Given the description of an element on the screen output the (x, y) to click on. 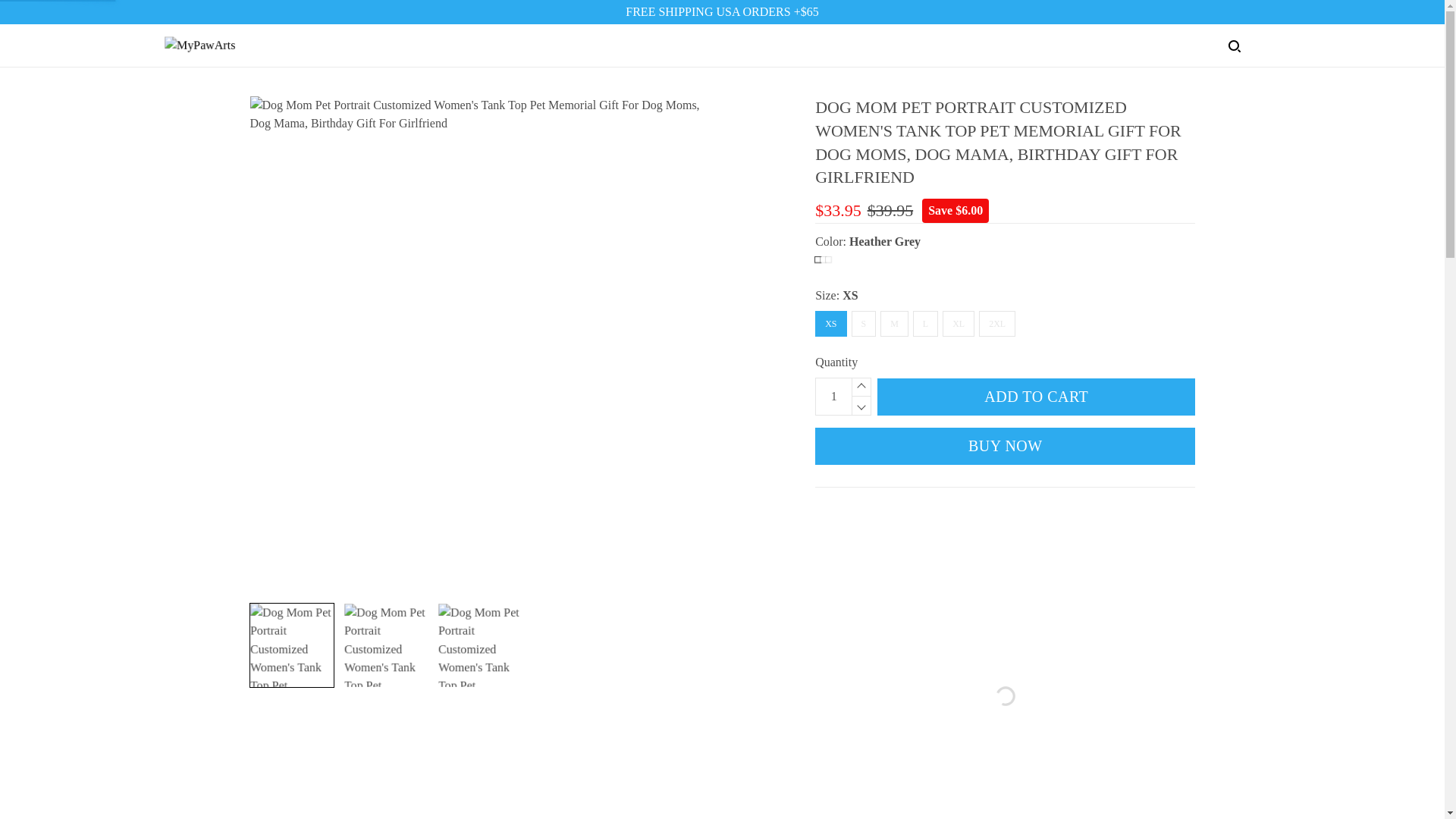
1 (833, 396)
ADD TO CART (1036, 396)
S (863, 323)
2XL (996, 323)
BUY NOW (1005, 446)
L (924, 323)
M (894, 323)
XS (830, 323)
XL (958, 323)
